Given the description of an element on the screen output the (x, y) to click on. 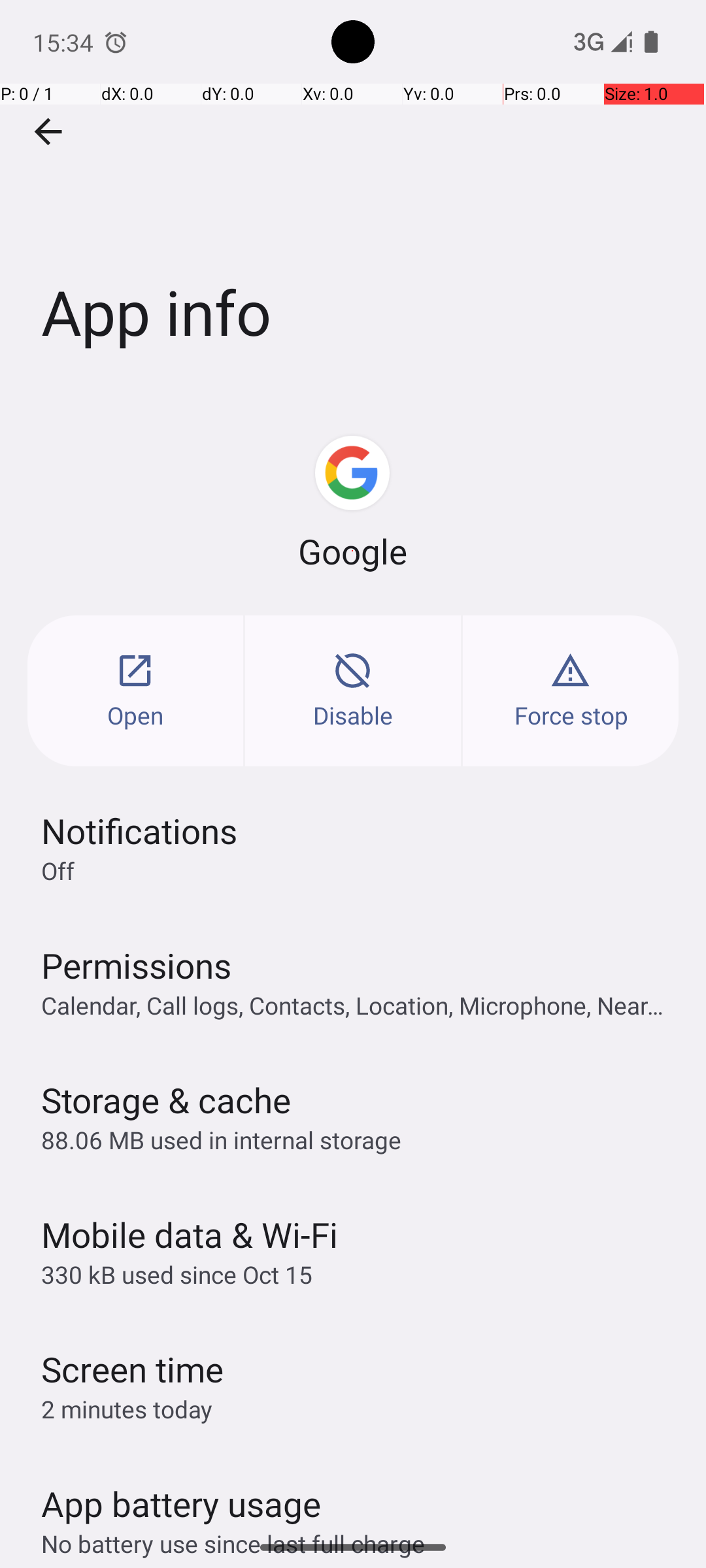
Calendar, Call logs, Contacts, Location, Microphone, Nearby devices, Phone, and SMS Element type: android.widget.TextView (359, 1004)
88.06 MB used in internal storage Element type: android.widget.TextView (221, 1139)
330 kB used since Oct 15 Element type: android.widget.TextView (176, 1273)
2 minutes today Element type: android.widget.TextView (127, 1408)
